Given the description of an element on the screen output the (x, y) to click on. 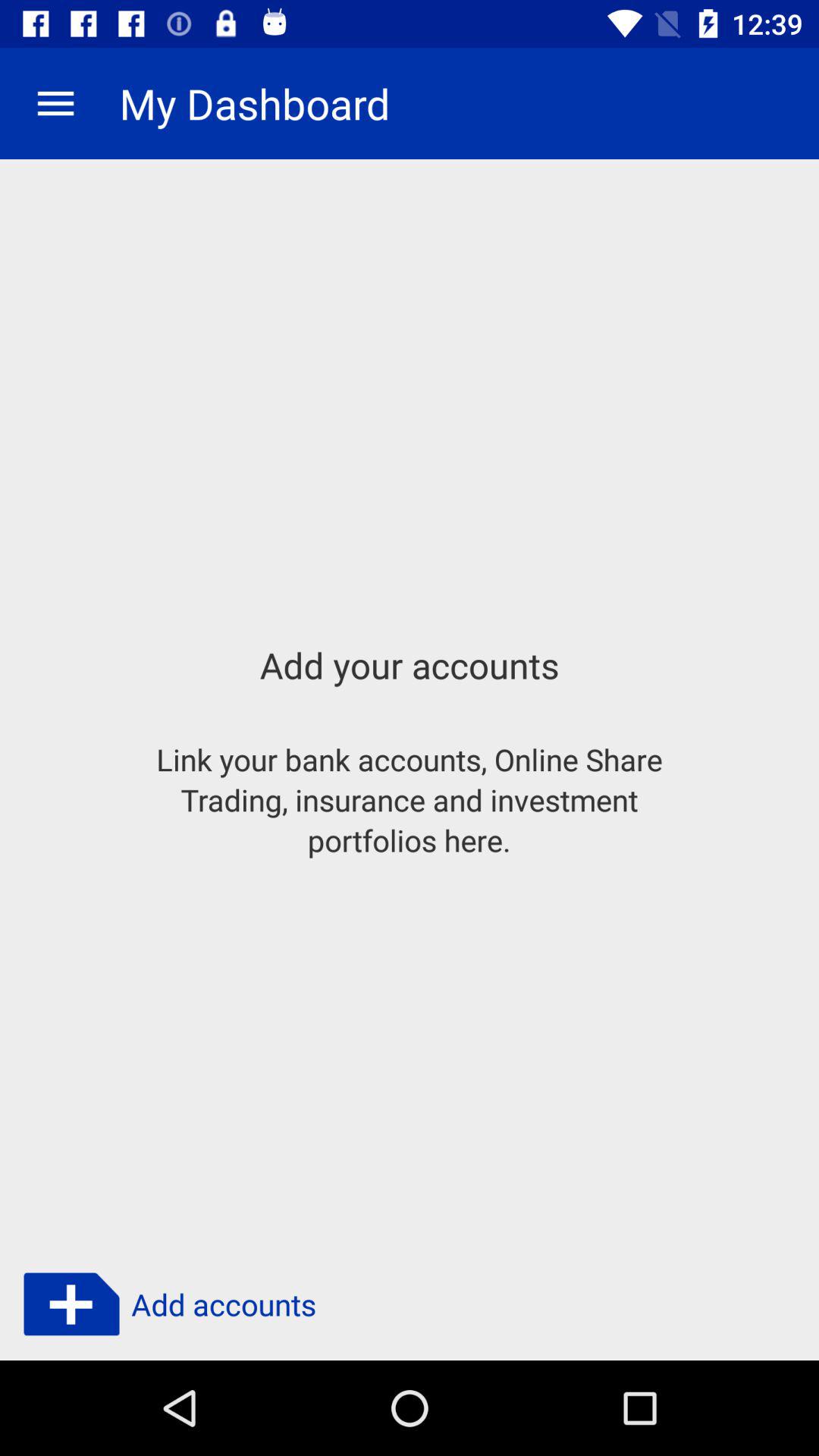
add symbol (71, 1304)
